Given the description of an element on the screen output the (x, y) to click on. 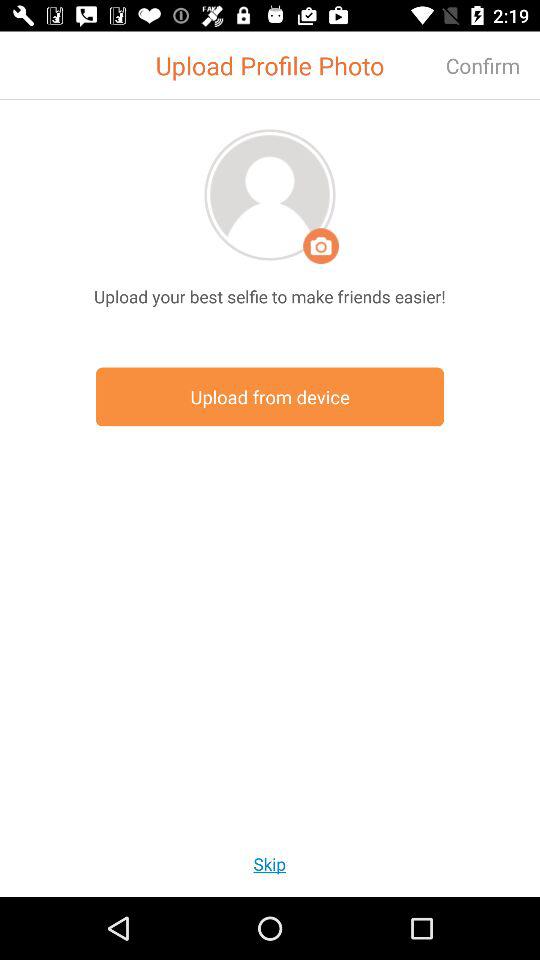
press app at the center (270, 396)
